Given the description of an element on the screen output the (x, y) to click on. 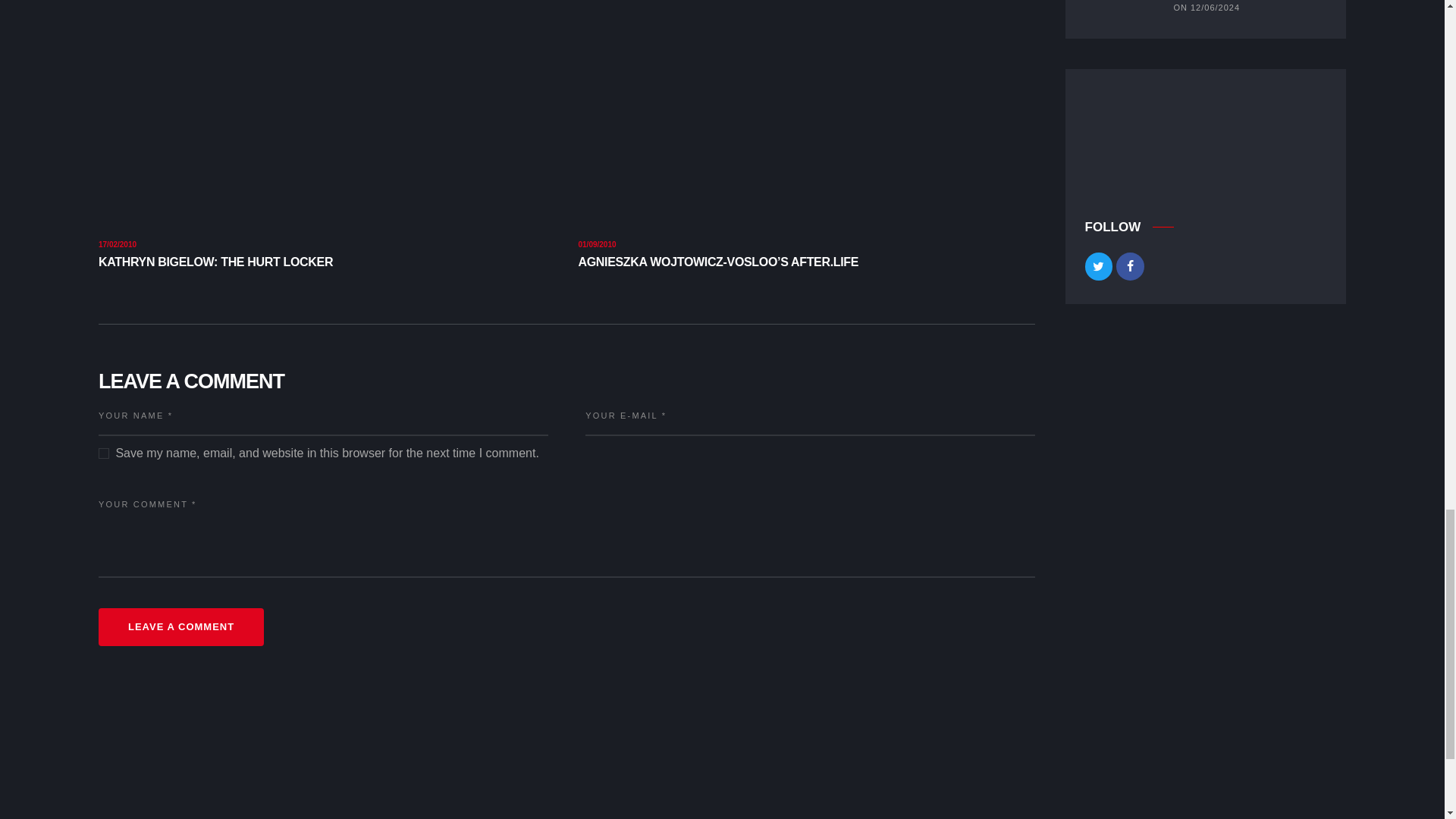
Leave a comment (181, 627)
KATHRYN BIGELOW: THE HURT LOCKER (327, 261)
